Given the description of an element on the screen output the (x, y) to click on. 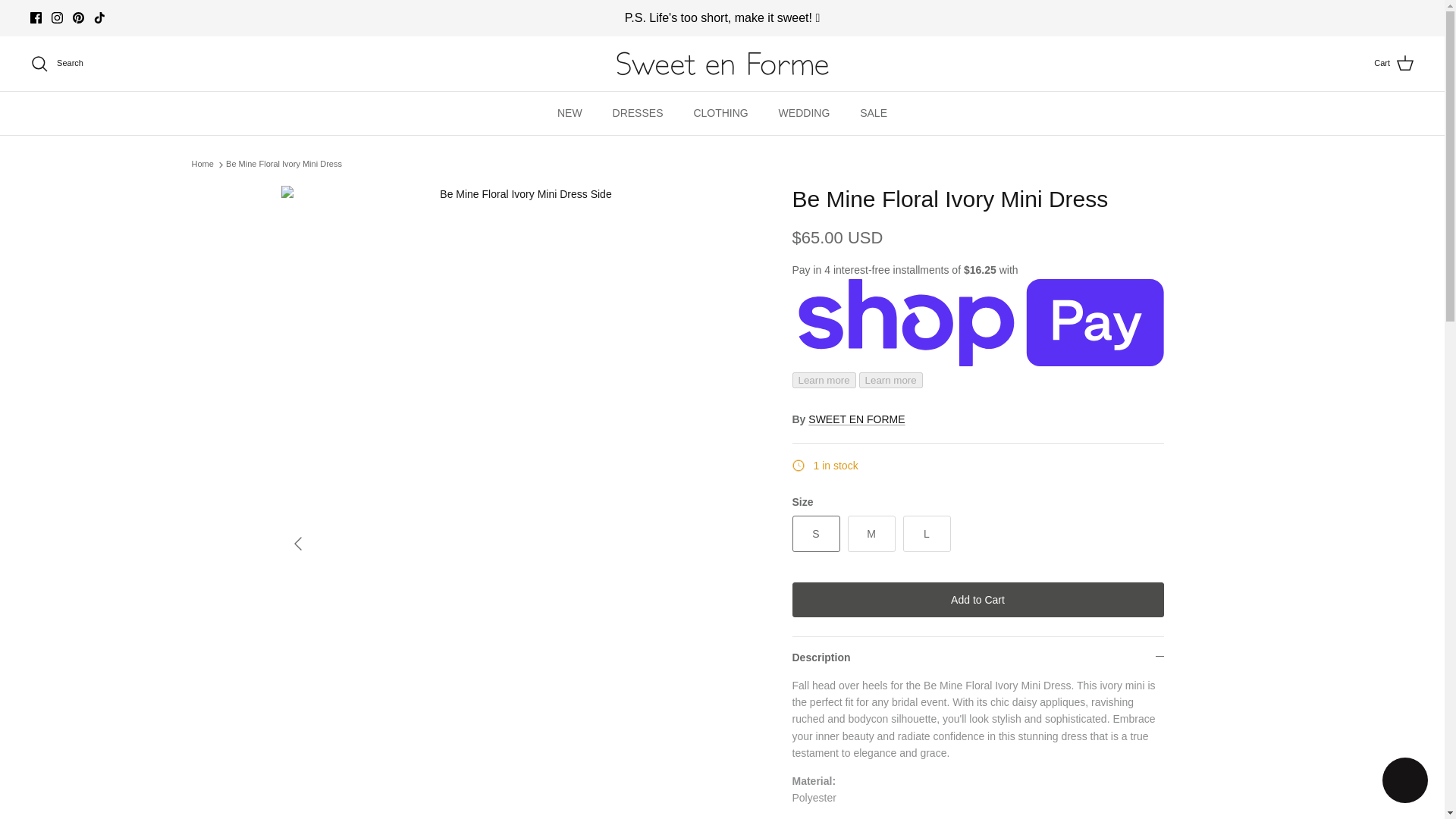
CLOTHING (720, 113)
Search (56, 63)
Facebook (36, 17)
Pinterest (78, 17)
Left (296, 543)
Cart (1393, 63)
Instagram (56, 17)
NEW (569, 113)
Shopify online store chat (1404, 781)
SALE (873, 113)
Instagram (56, 17)
Facebook (36, 17)
WEDDING (804, 113)
Pinterest (78, 17)
DRESSES (637, 113)
